Given the description of an element on the screen output the (x, y) to click on. 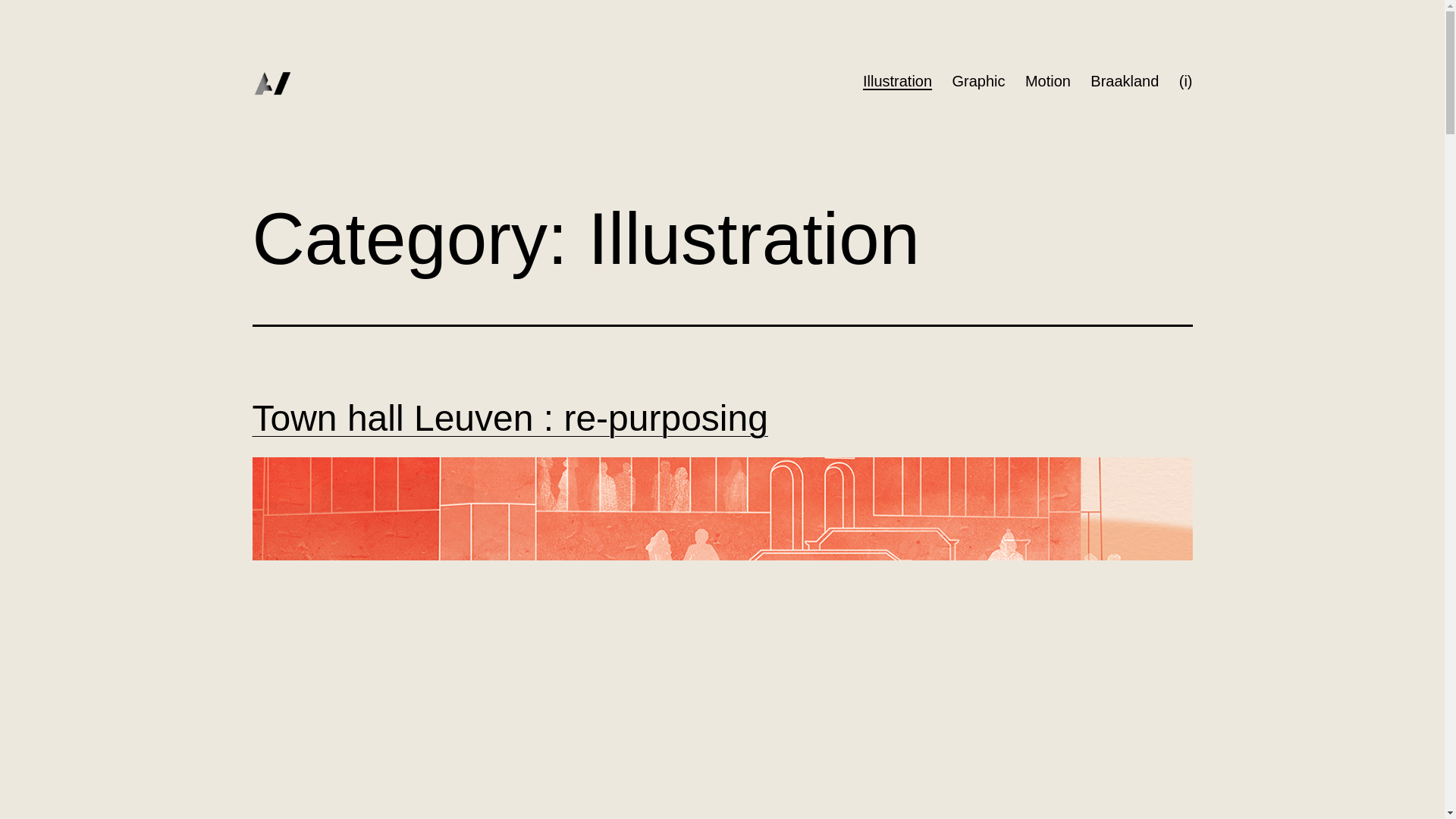
Graphic Element type: text (977, 80)
Illustration Element type: text (897, 80)
Braakland Element type: text (1124, 80)
(i) Element type: text (1185, 80)
Motion Element type: text (1047, 80)
Town hall Leuven : re-purposing Element type: text (509, 418)
